Given the description of an element on the screen output the (x, y) to click on. 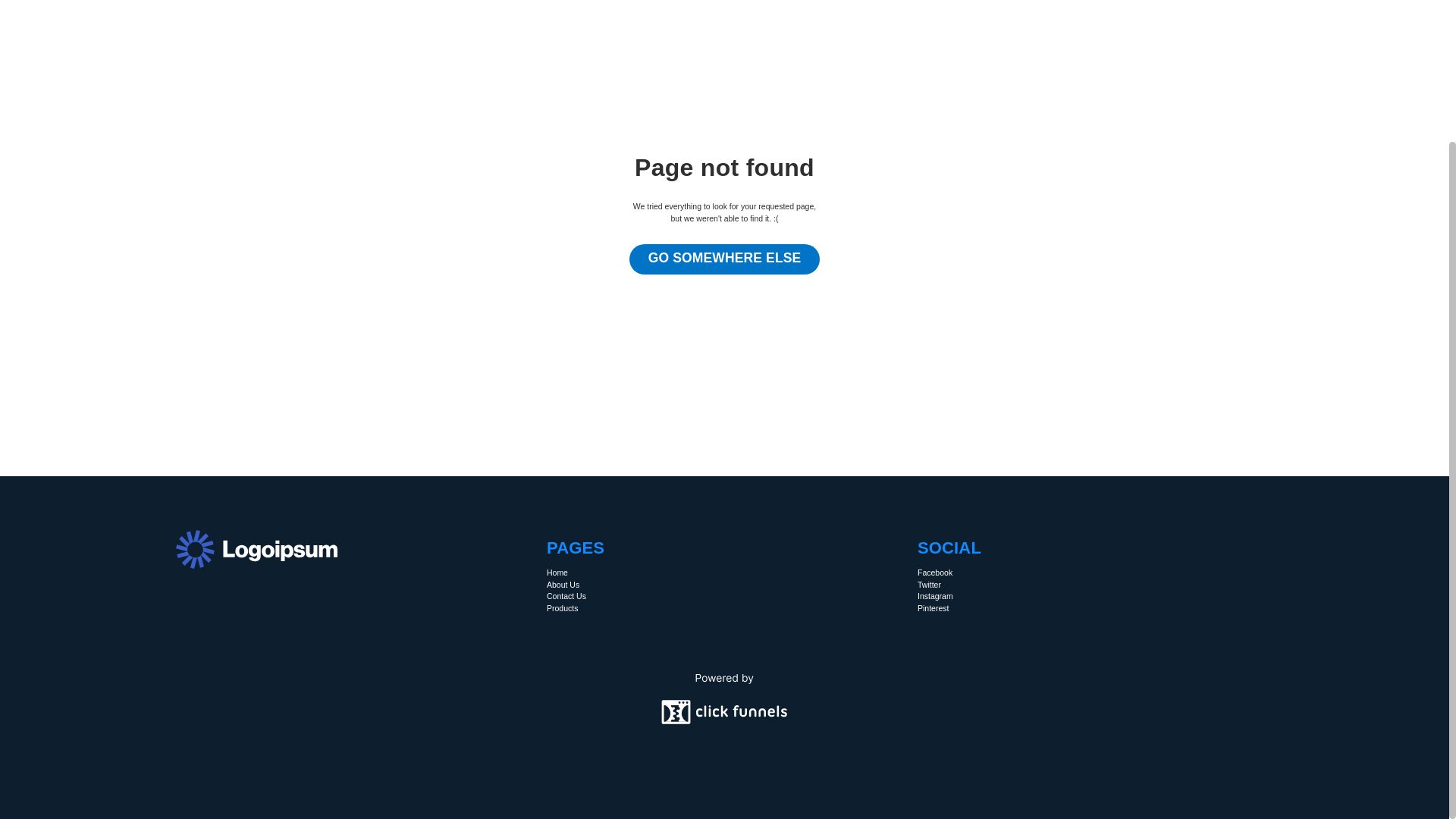
Contact Us (566, 596)
Home (557, 573)
About Us (563, 585)
Twitter (928, 585)
Products (562, 608)
Facebook (934, 573)
Pinterest (933, 608)
Instagram (935, 596)
GO SOMEWHERE ELSE (724, 259)
